Given the description of an element on the screen output the (x, y) to click on. 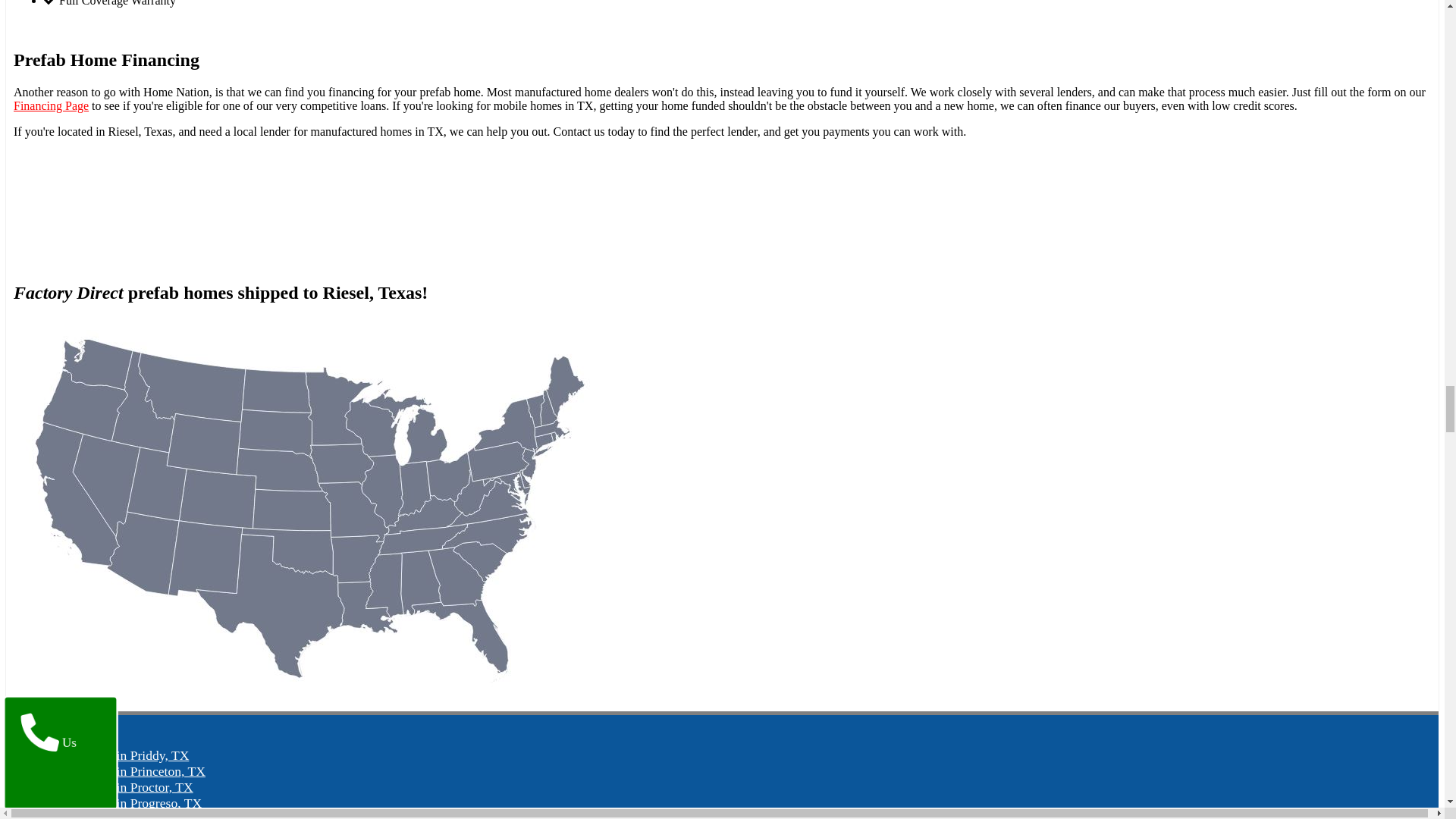
Mobile homes in Prosper, TX (115, 815)
Financing Page (50, 105)
Mobile homes in Progreso, TX (119, 802)
Mobile homes in Princeton, TX (120, 770)
Mobile homes in Priddy, TX (112, 754)
Mobile homes in Proctor, TX (114, 786)
